Given the description of an element on the screen output the (x, y) to click on. 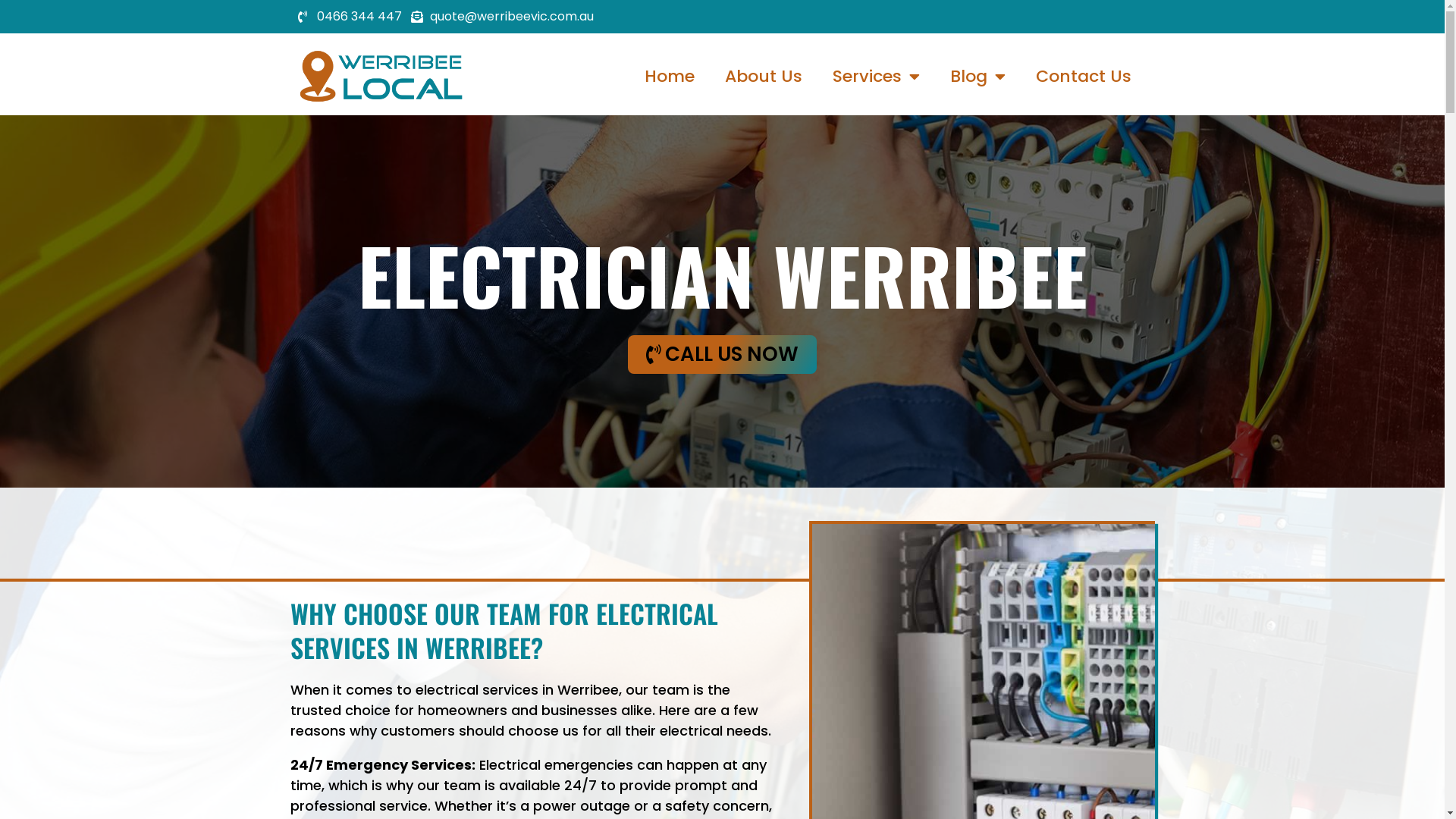
0466 344 447 Element type: text (349, 16)
Contact Us Element type: text (1083, 76)
Services Element type: text (876, 76)
About Us Element type: text (763, 76)
CALL US NOW Element type: text (721, 354)
Blog Element type: text (977, 76)
quote@werribeevic.com.au Element type: text (502, 16)
Home Element type: text (669, 76)
